Given the description of an element on the screen output the (x, y) to click on. 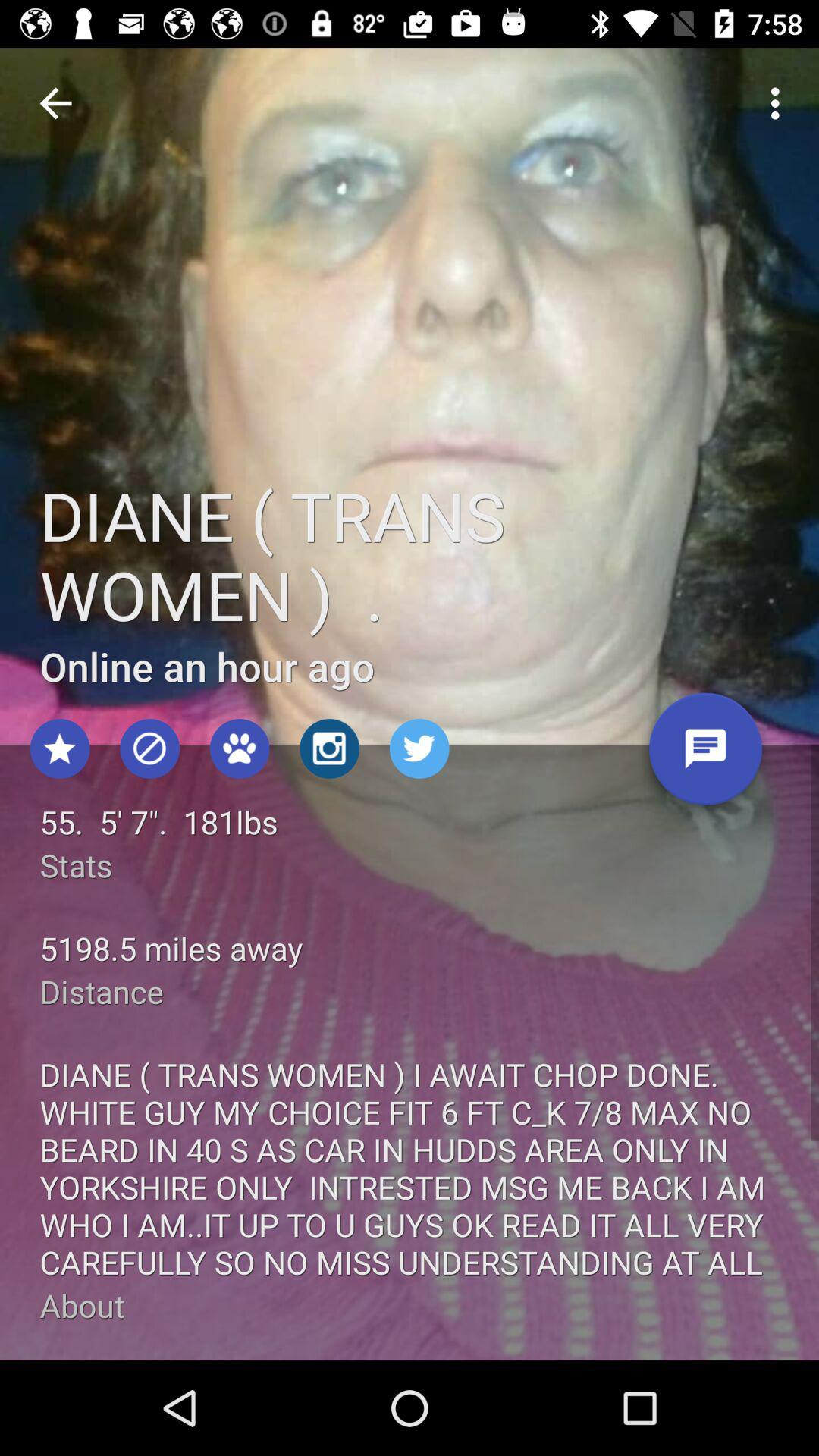
go to message box (705, 754)
